Given the description of an element on the screen output the (x, y) to click on. 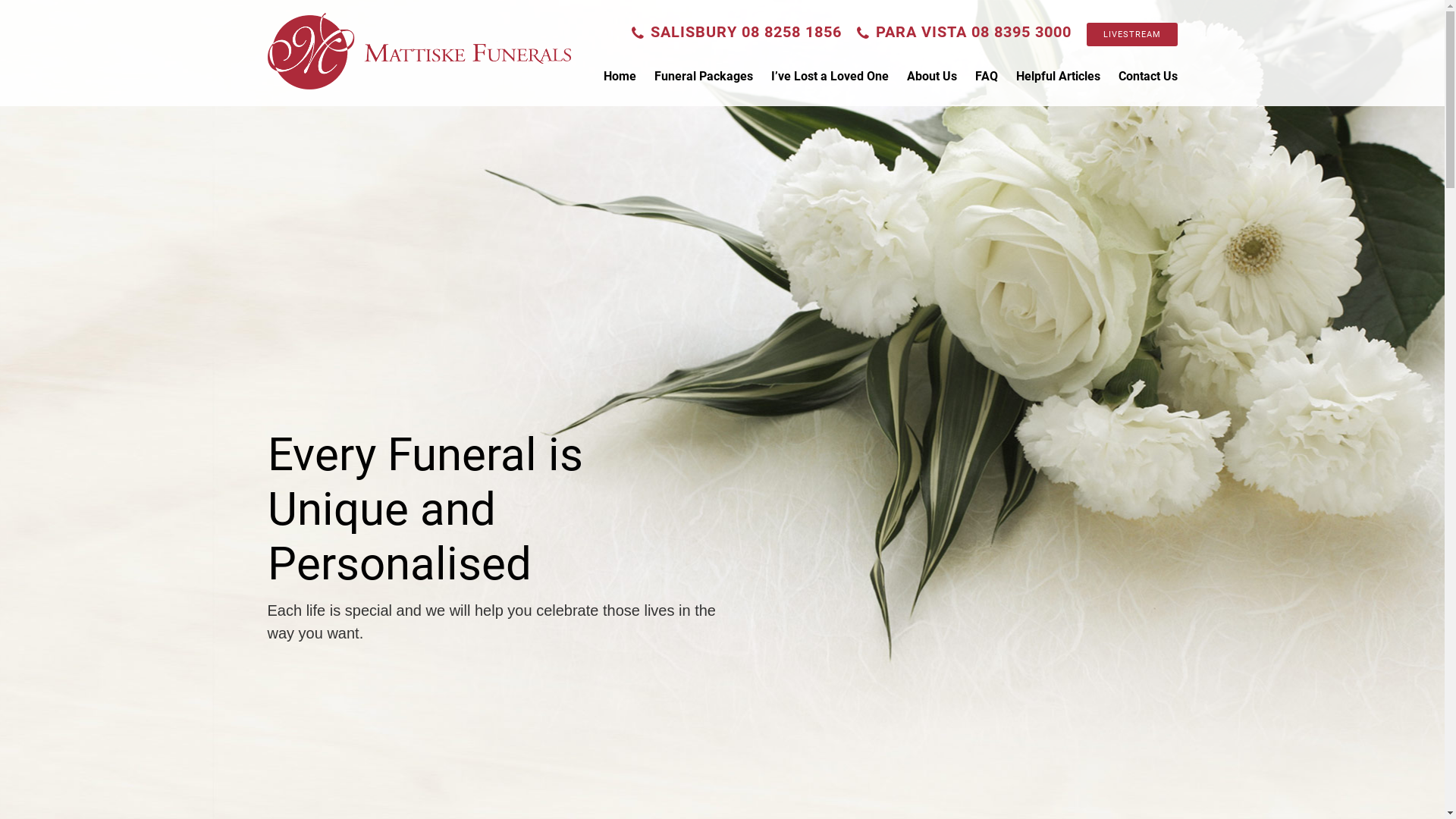
About Us Element type: text (931, 76)
Funeral Packages Element type: text (702, 76)
FAQ Element type: text (986, 76)
Contact Us Element type: text (1146, 76)
LIVESTREAM Element type: text (1130, 34)
Home Element type: text (619, 76)
Helpful Articles Element type: text (1058, 76)
SALISBURY 08 8258 1856 Element type: text (739, 31)
PARA VISTA 08 8395 3000 Element type: text (967, 31)
